Given the description of an element on the screen output the (x, y) to click on. 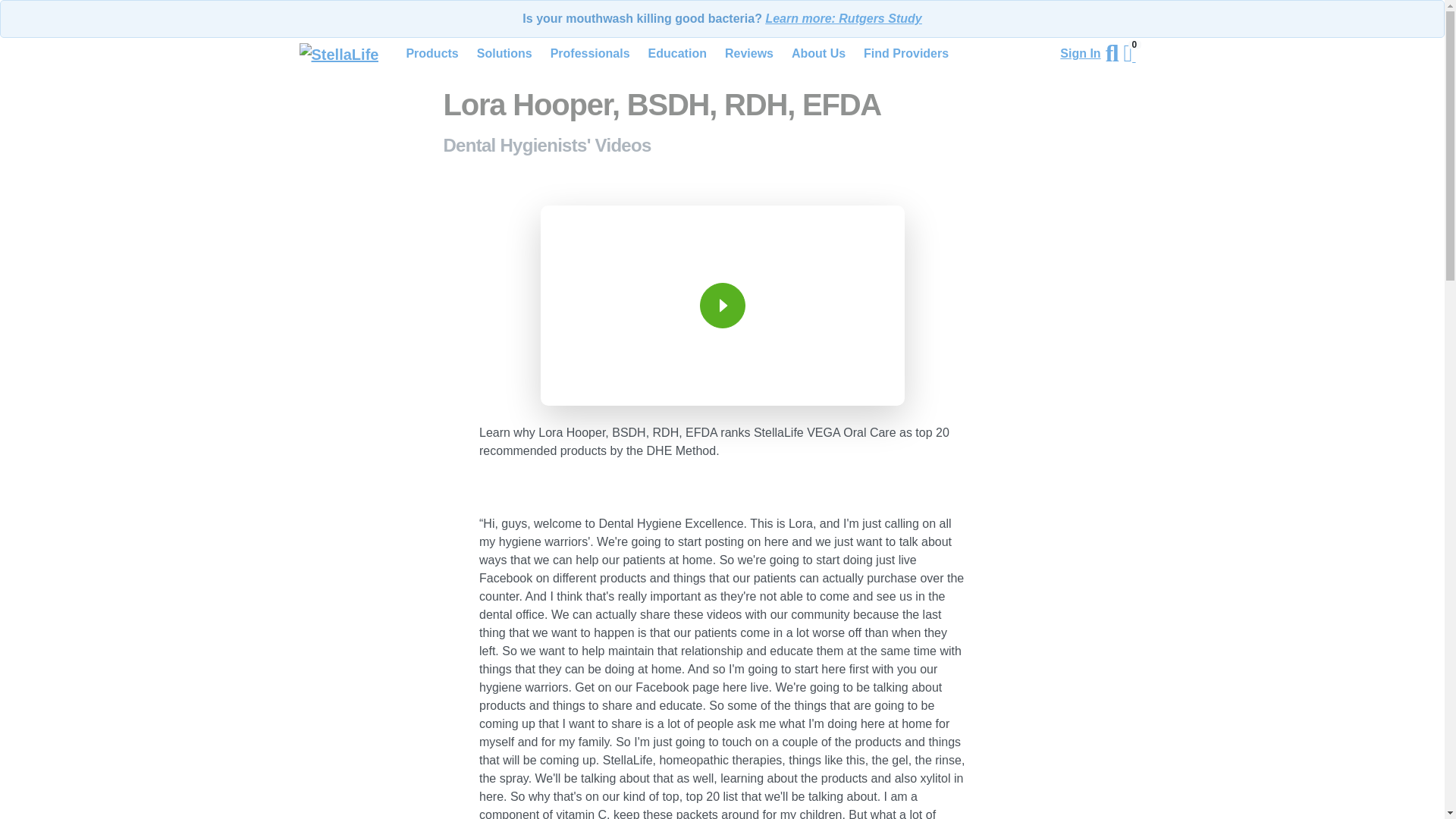
Professionals (590, 53)
Education (677, 53)
StellaLife (338, 54)
Solutions (504, 53)
Products (431, 53)
Sign In (1082, 54)
Learn more: Rutgers Study (843, 18)
